Given the description of an element on the screen output the (x, y) to click on. 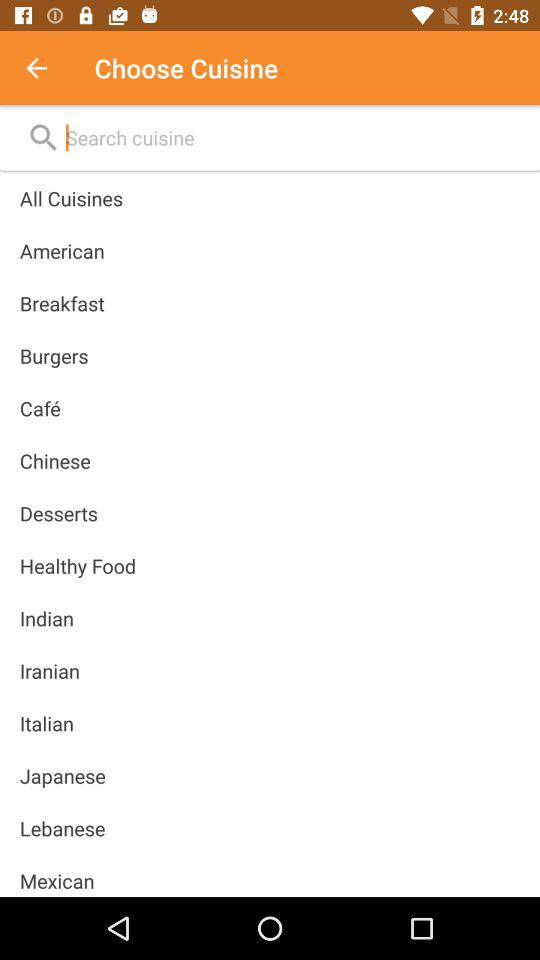
press chinese icon (54, 460)
